Given the description of an element on the screen output the (x, y) to click on. 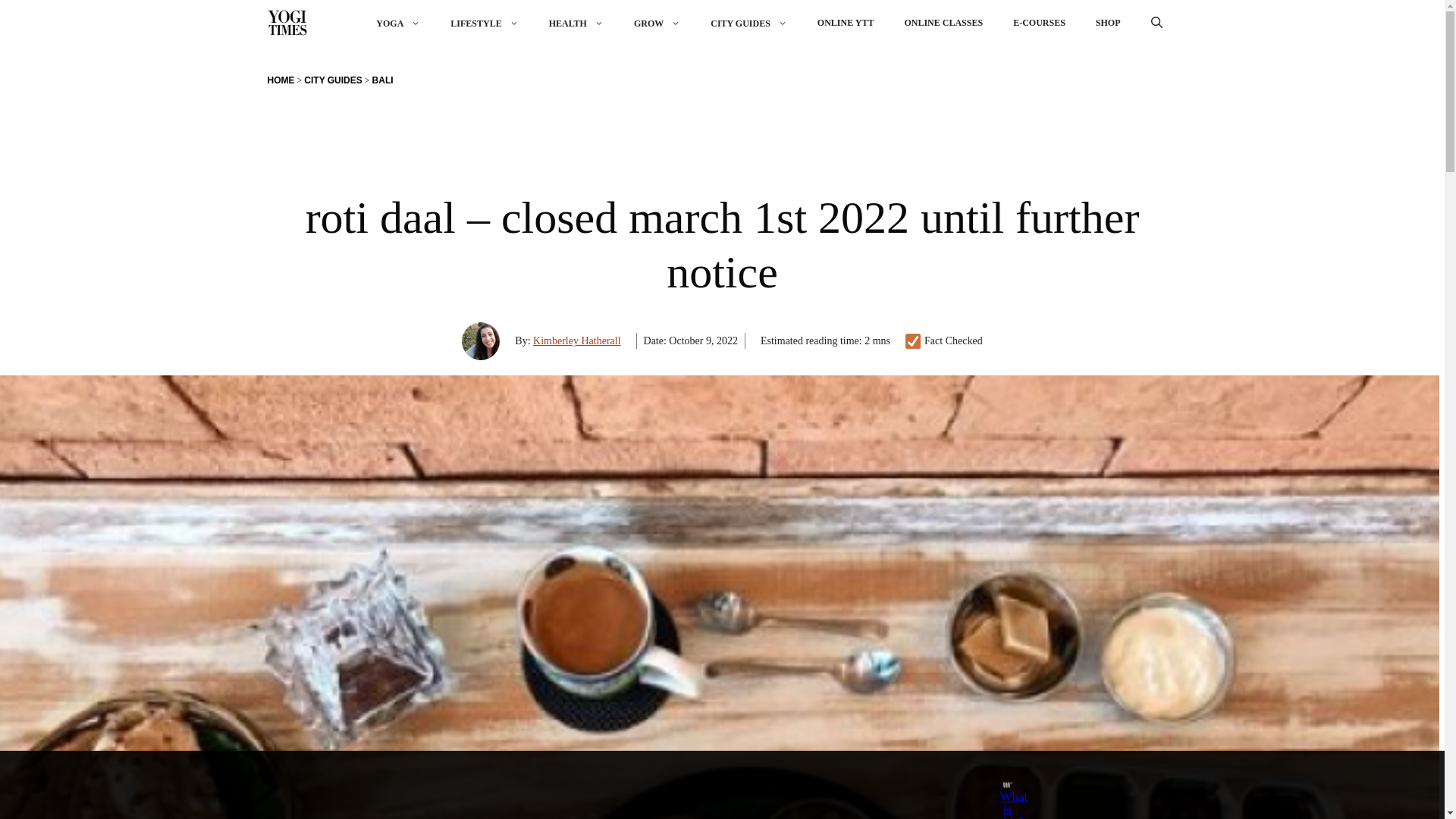
3rd party ad content (708, 785)
